Given the description of an element on the screen output the (x, y) to click on. 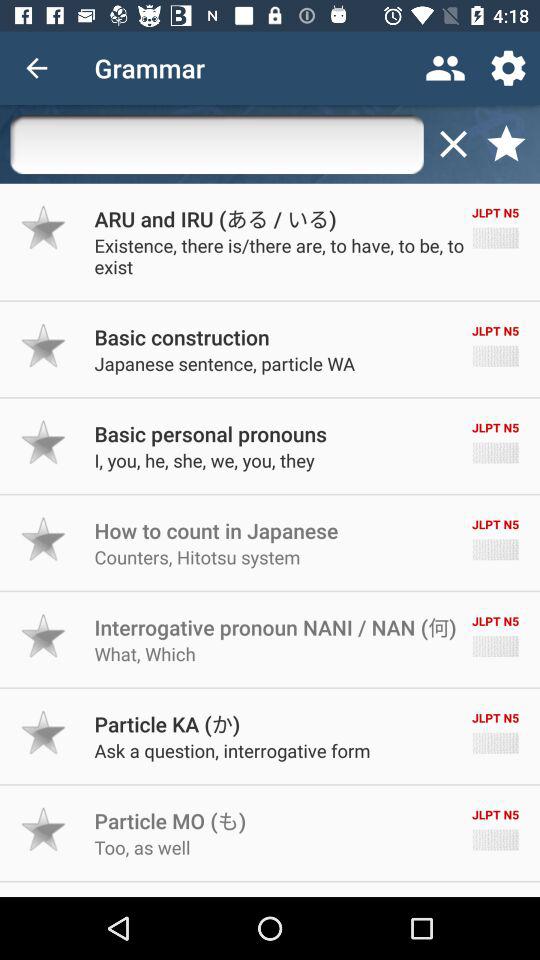
see grammar for nani nan (44, 636)
